Given the description of an element on the screen output the (x, y) to click on. 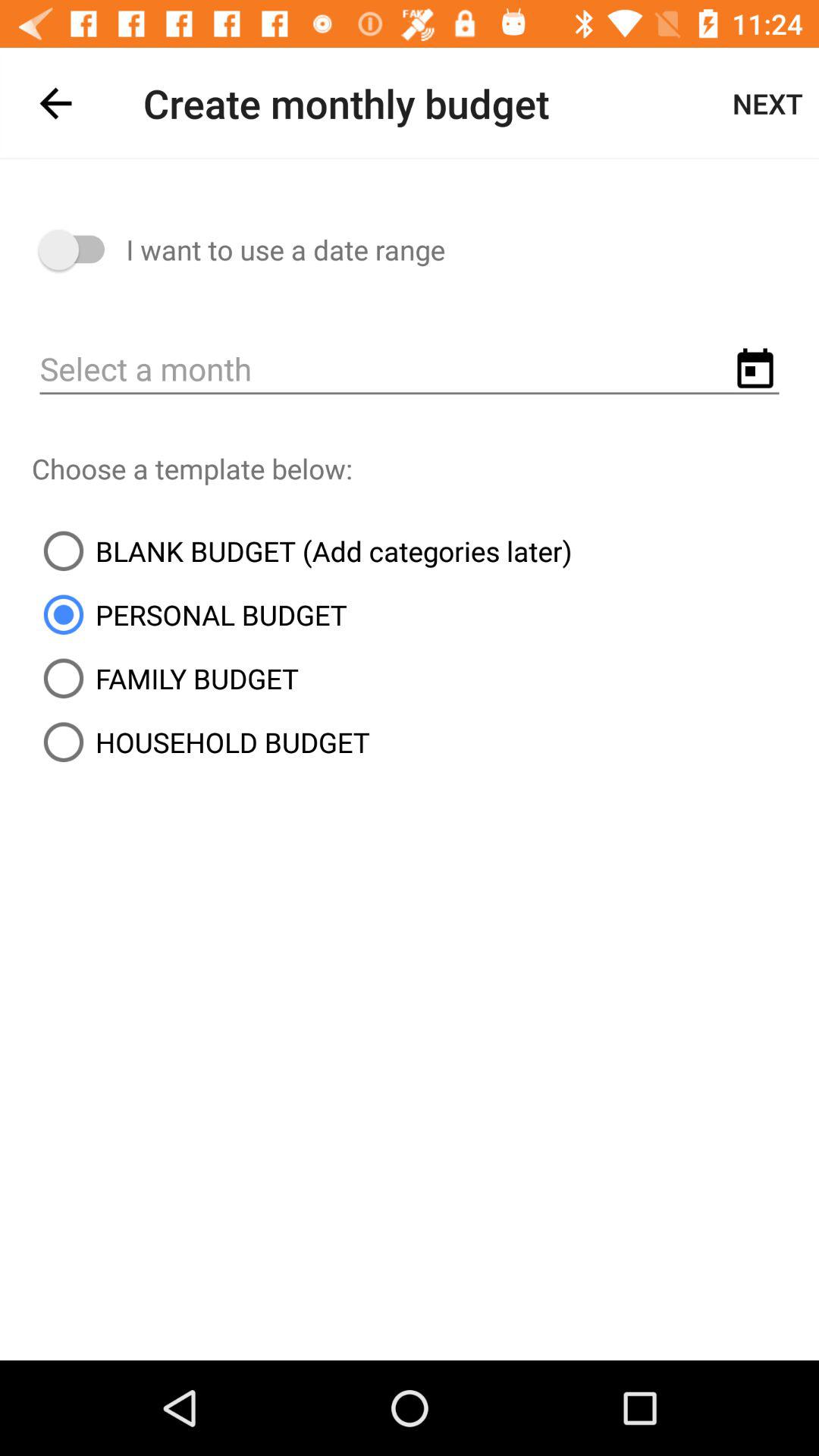
turn on icon next to the i want to item (78, 249)
